Given the description of an element on the screen output the (x, y) to click on. 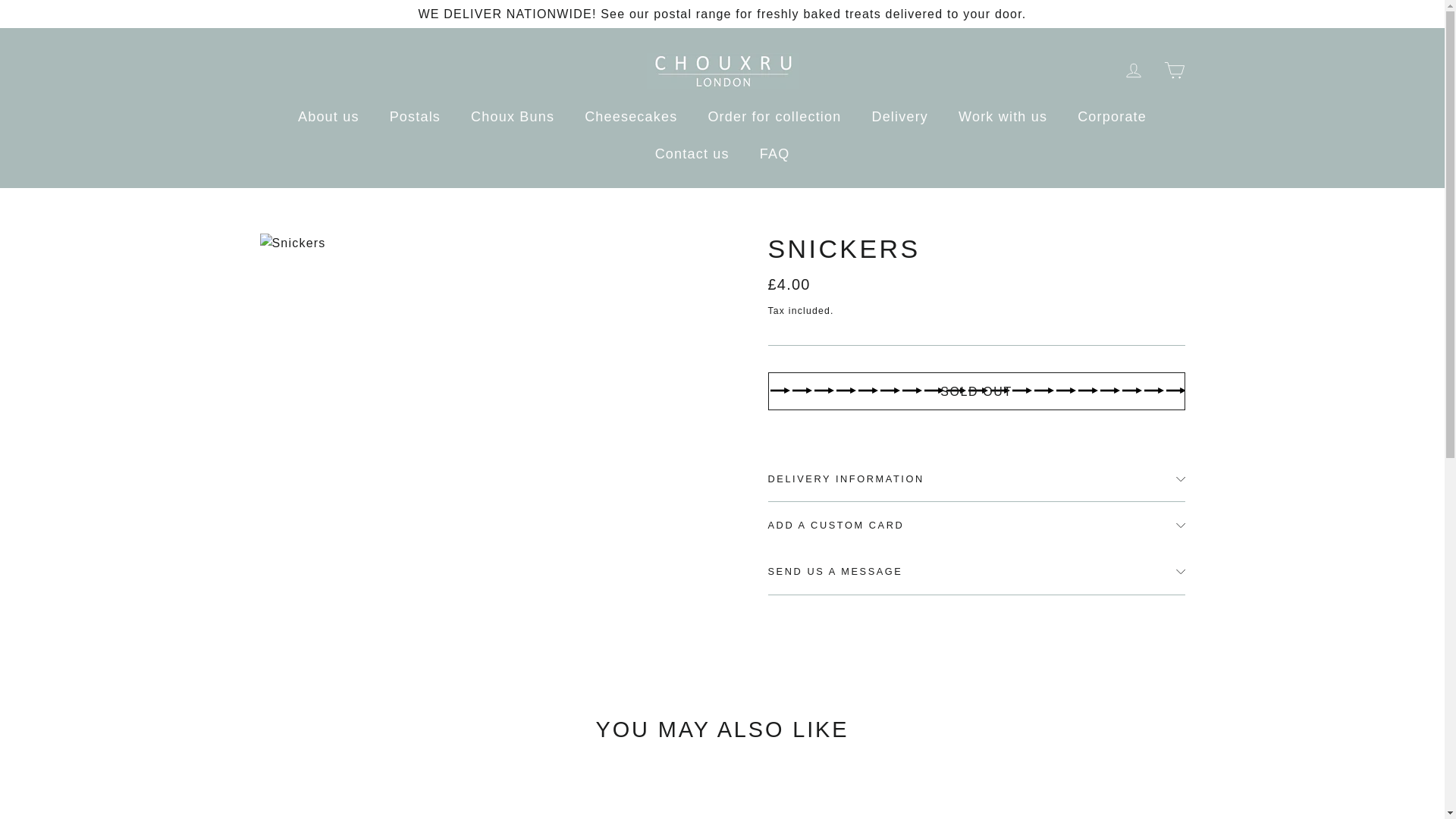
About us (328, 116)
Corporate (1111, 116)
SEND US A MESSAGE (976, 570)
SOLD OUT (976, 391)
ADD A CUSTOM CARD (976, 524)
Cart (1173, 70)
DELIVERY INFORMATION (976, 478)
Choux Buns (512, 116)
Contact us (692, 153)
Postals (414, 116)
Order for collection (774, 116)
Cheesecakes (631, 116)
Work with us (1002, 116)
FAQ (774, 153)
